Given the description of an element on the screen output the (x, y) to click on. 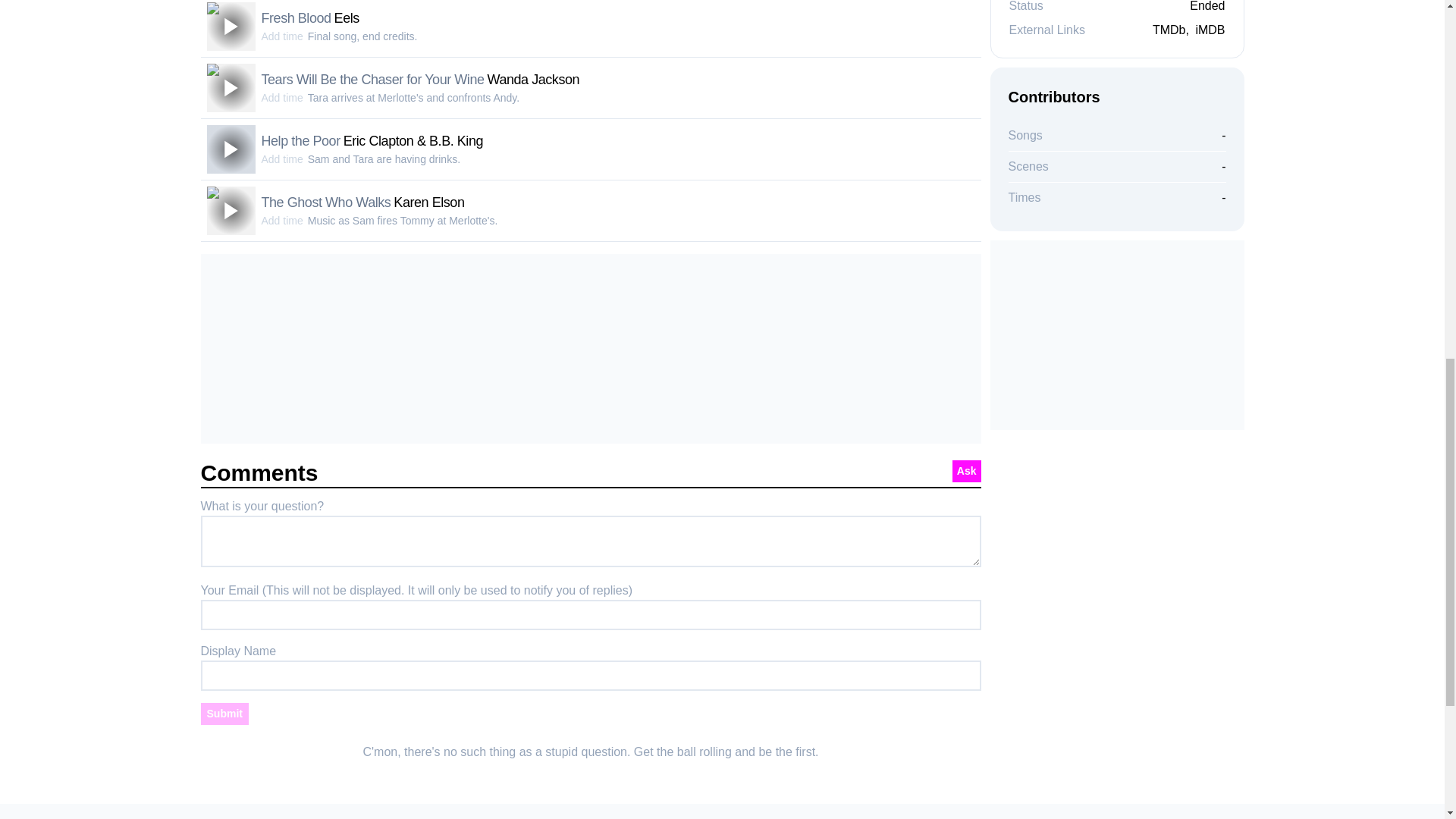
iMDB (1209, 30)
Submit (223, 713)
Ask (966, 471)
Wanda Jackson (533, 79)
Eels (346, 18)
Karen Elson (428, 202)
TMDb (1169, 30)
